Given the description of an element on the screen output the (x, y) to click on. 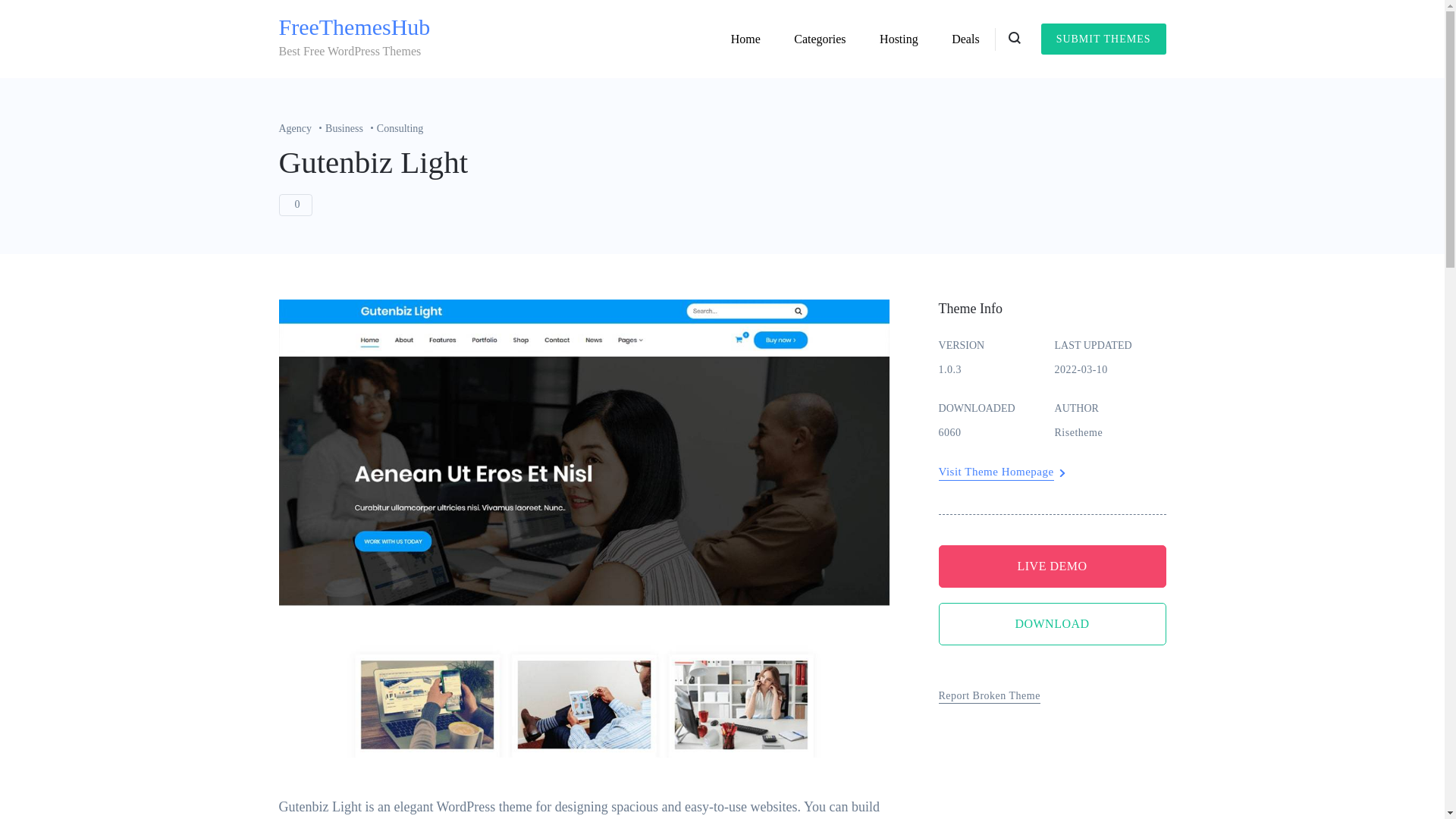
Agency (302, 128)
Deals (965, 39)
Search (882, 412)
Categories (819, 39)
SUBMIT THEMES (1103, 39)
0 (296, 205)
DOWNLOAD (1052, 623)
FreeThemesHub (354, 26)
Report Broken Theme (990, 696)
Business (350, 128)
Visit Theme Homepage (996, 472)
Consulting (400, 128)
Home (746, 39)
Hosting (898, 39)
LIVE DEMO (1052, 566)
